Given the description of an element on the screen output the (x, y) to click on. 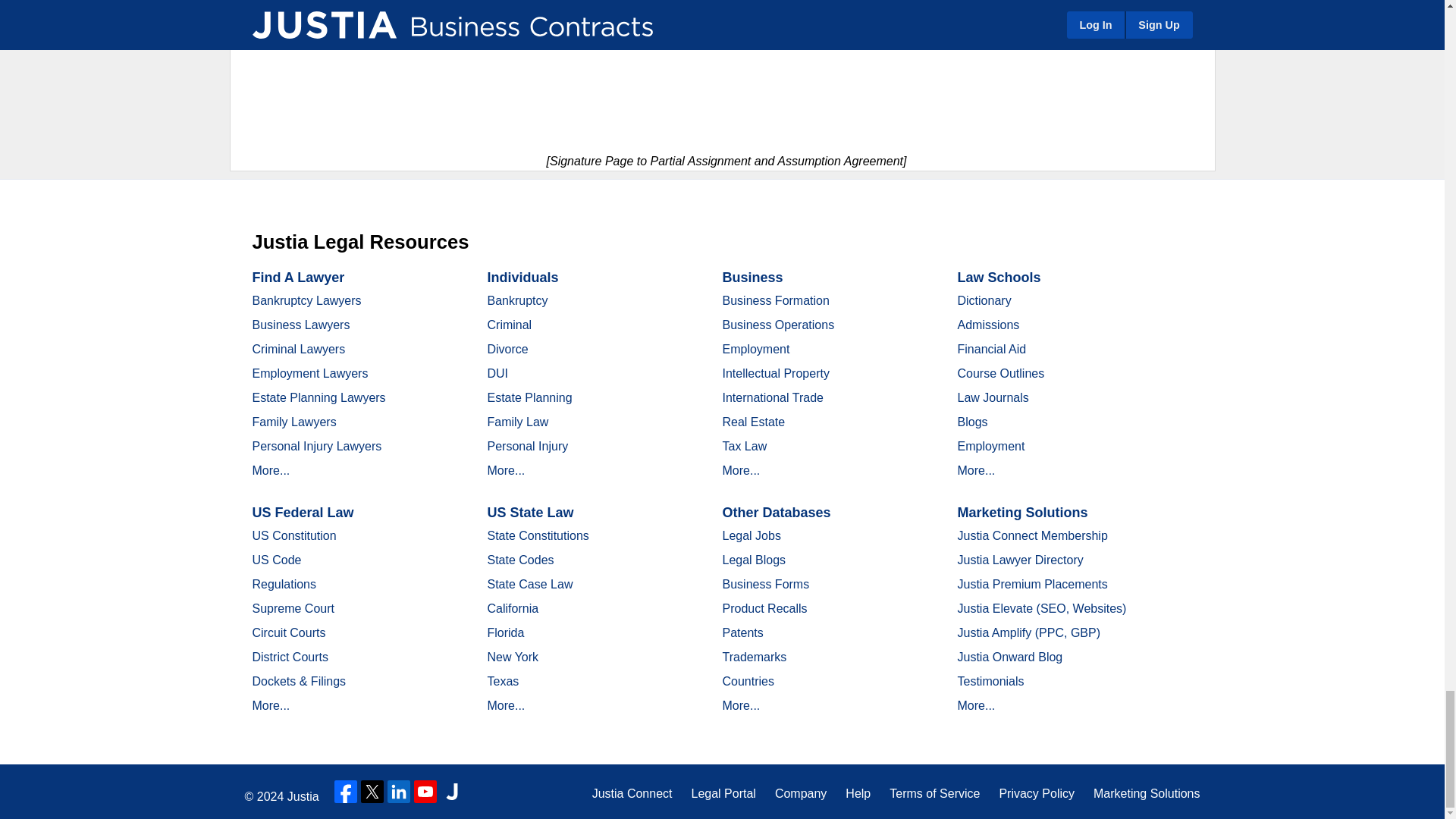
YouTube (424, 791)
LinkedIn (398, 791)
Justia Lawyer Directory (452, 791)
Business Lawyers (300, 324)
Twitter (372, 791)
Facebook (345, 791)
Bankruptcy Lawyers (306, 300)
Family Lawyers (293, 421)
Criminal Lawyers (298, 349)
More... (270, 470)
Find A Lawyer (297, 277)
Employment Lawyers (309, 373)
Personal Injury Lawyers (316, 445)
Estate Planning Lawyers (318, 397)
